Given the description of an element on the screen output the (x, y) to click on. 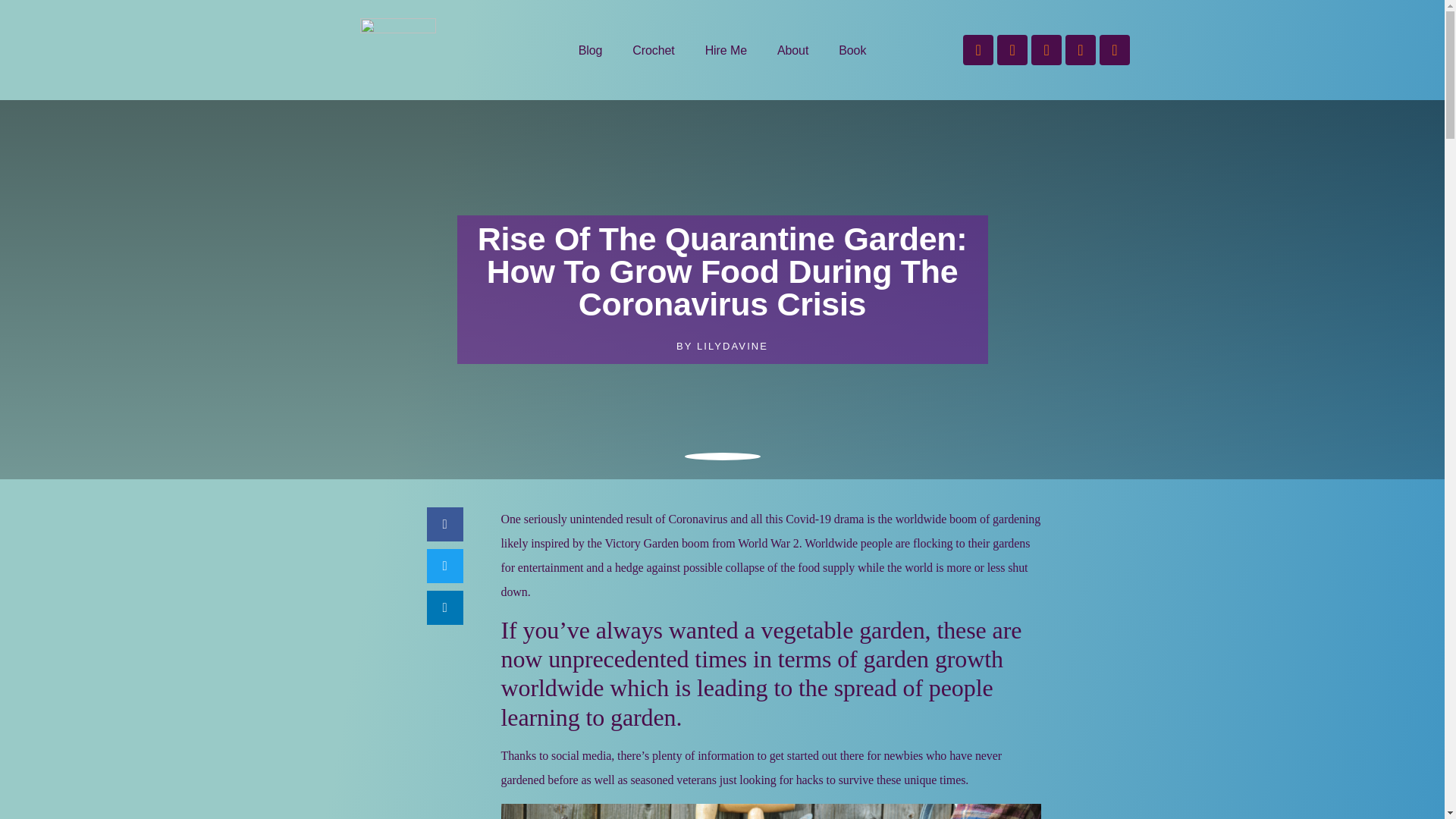
About (792, 50)
Book (852, 50)
Blog (590, 50)
Hire Me (725, 50)
Crochet (652, 50)
